Given the description of an element on the screen output the (x, y) to click on. 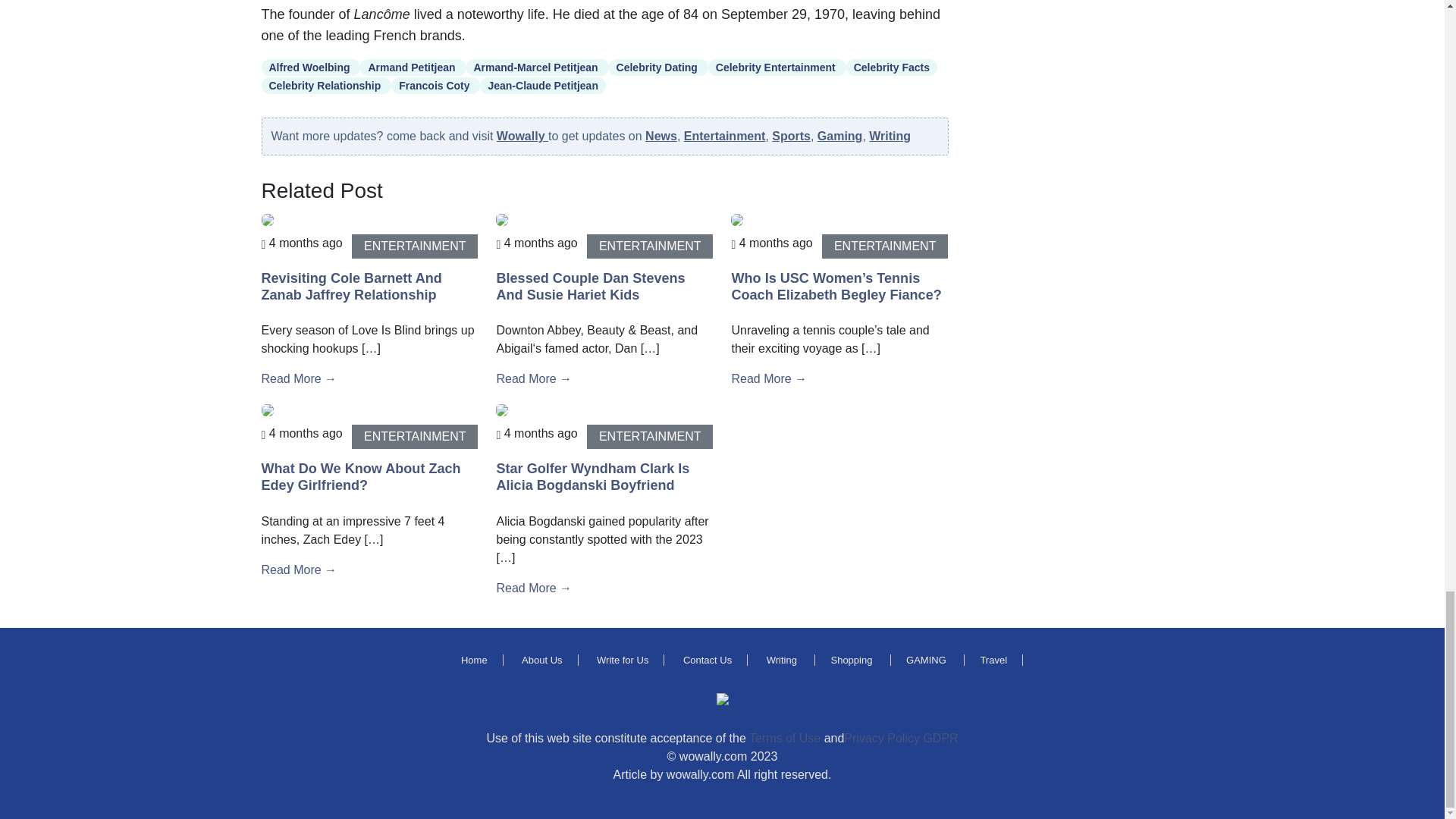
Francois Coty (435, 85)
Celebrity Dating (657, 67)
Armand-Marcel Petitjean (536, 67)
Alfred Woelbing (309, 67)
Celebrity Entertainment (776, 67)
Wowally (522, 135)
Entertainment (724, 135)
Jean-Claude Petitjean (542, 85)
News (661, 135)
Celebrity Relationship (325, 85)
